Given the description of an element on the screen output the (x, y) to click on. 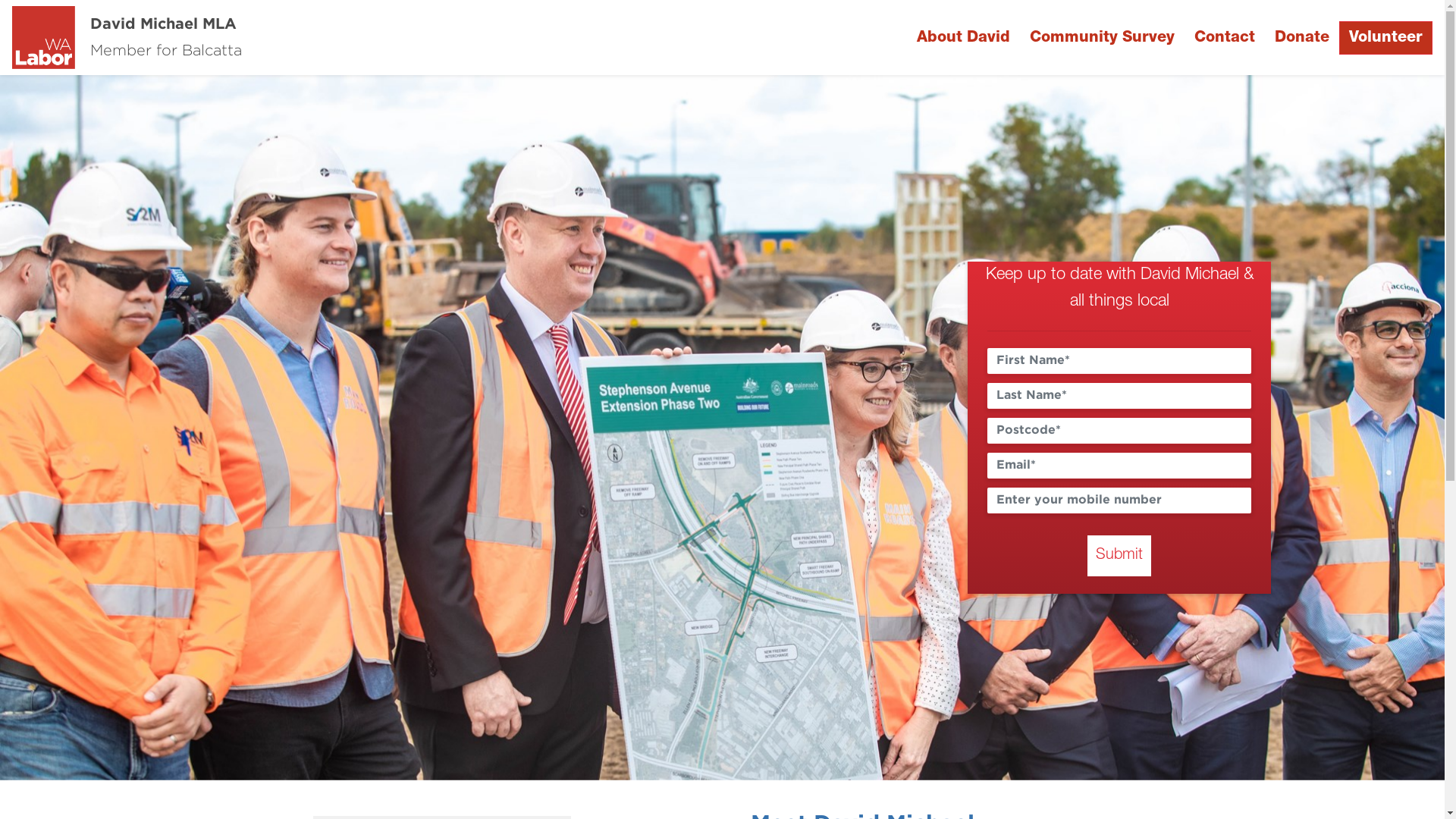
Volunteer Element type: text (1385, 37)
Contact Element type: text (1224, 37)
About David Element type: text (962, 37)
Community Survey Element type: text (1101, 37)
Next Element type: text (1335, 427)
Donate Element type: text (1301, 37)
Previous Element type: text (108, 427)
Submit Element type: text (1119, 555)
